Given the description of an element on the screen output the (x, y) to click on. 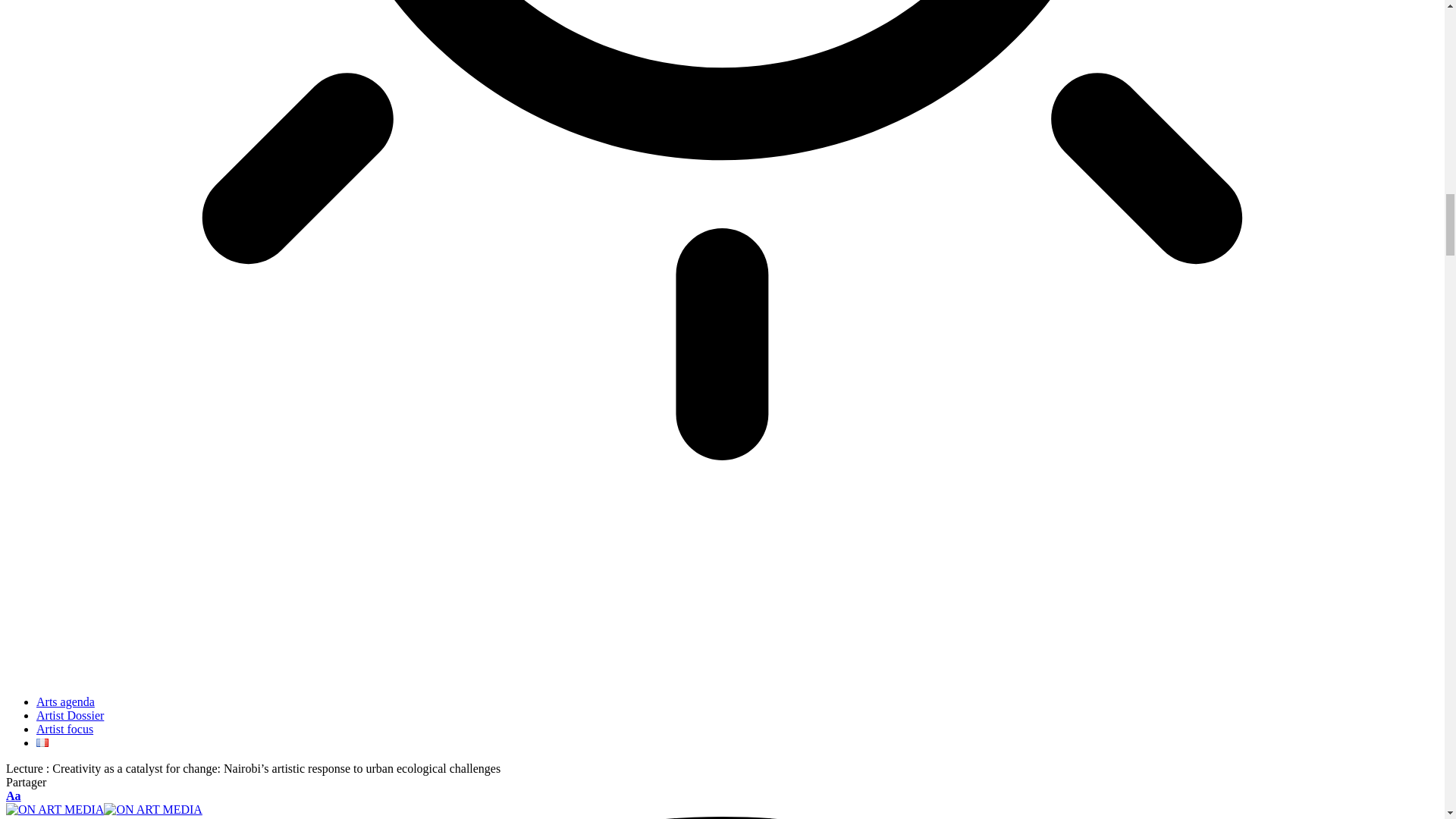
Artist focus (64, 728)
Aa (13, 795)
Artist Dossier (69, 715)
ON ART MEDIA (103, 809)
Arts agenda (65, 701)
